Given the description of an element on the screen output the (x, y) to click on. 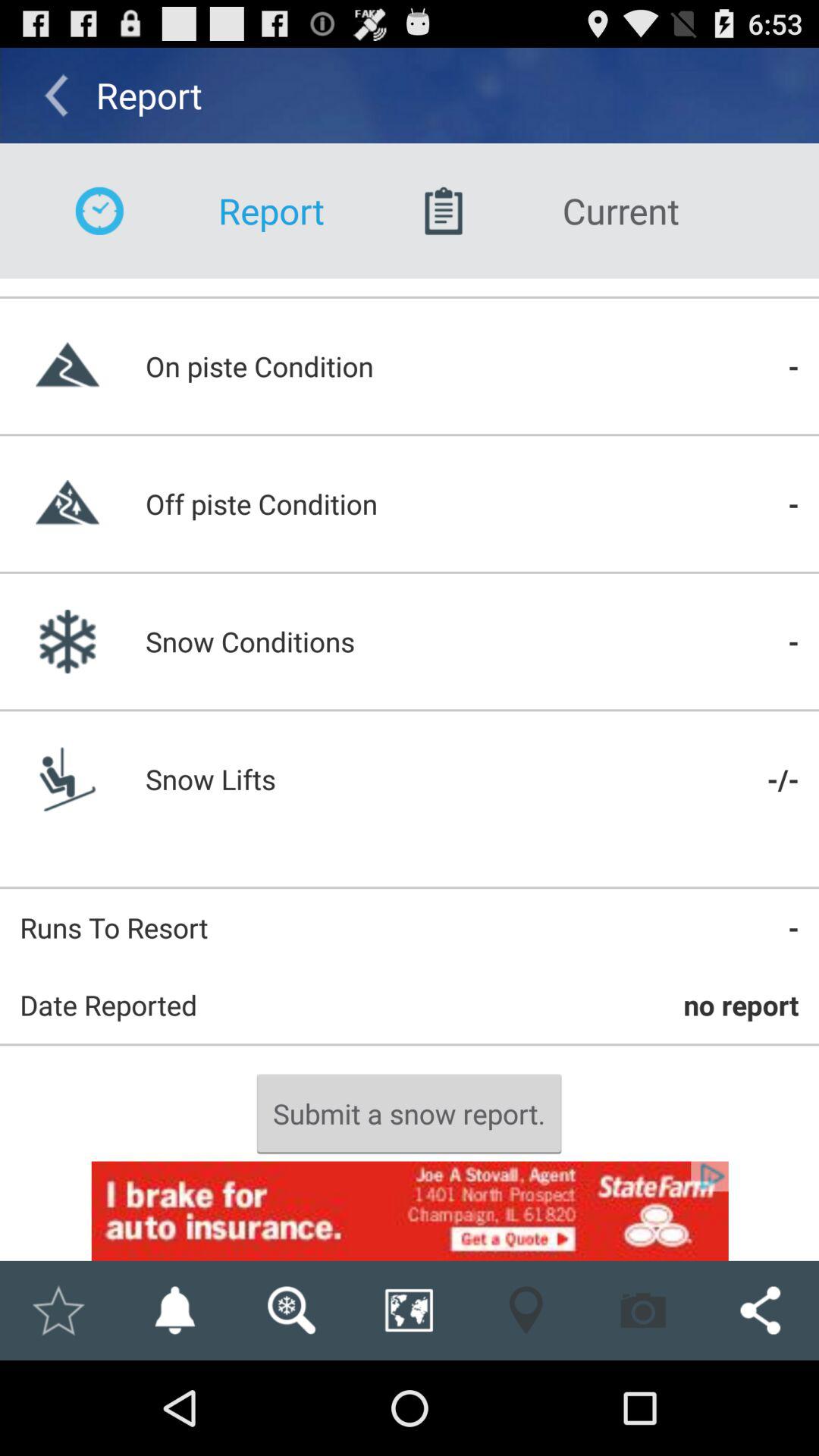
camera mode (642, 1310)
